Given the description of an element on the screen output the (x, y) to click on. 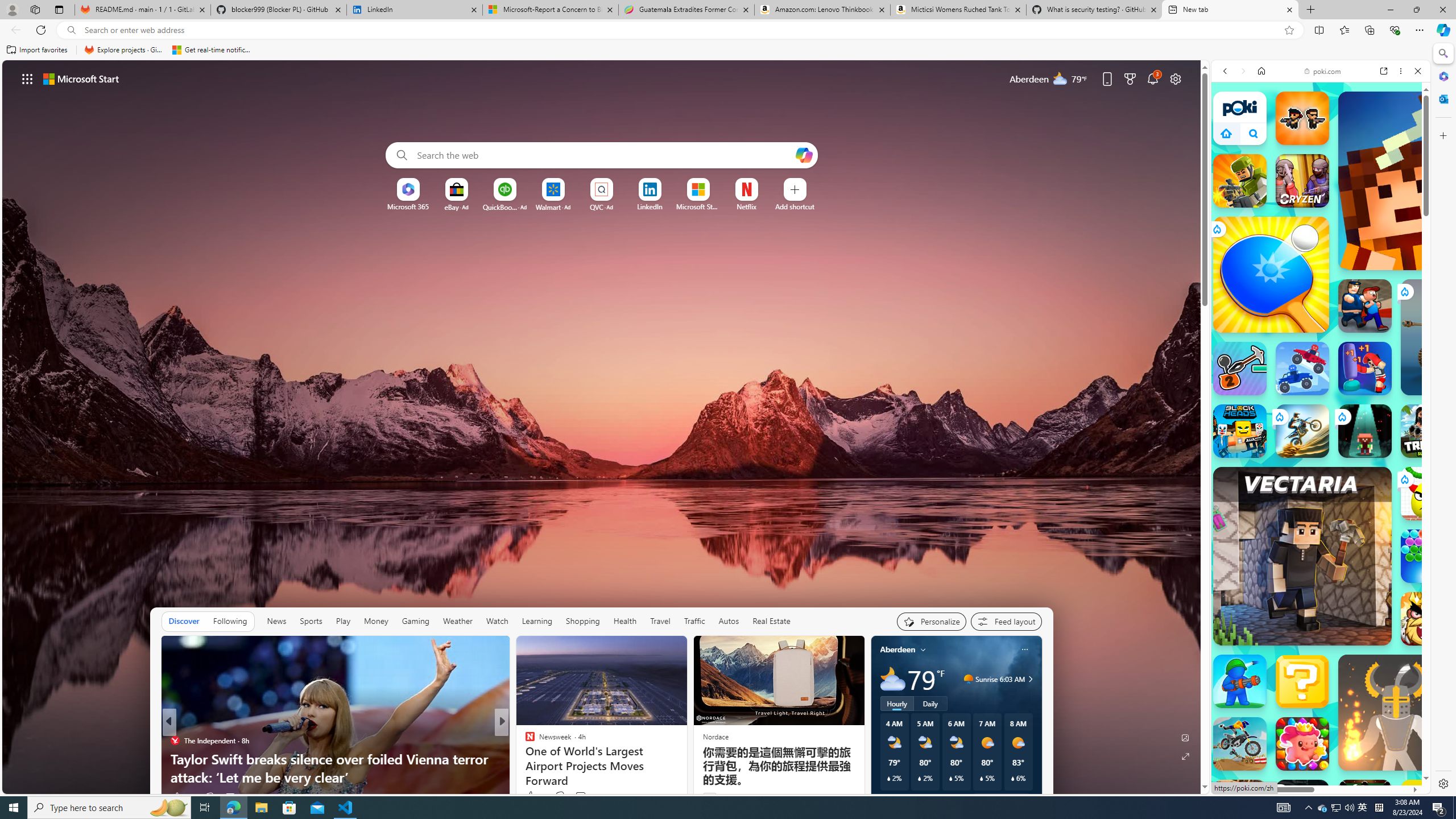
View comments 2 Comment (580, 797)
War Master War Master (1239, 681)
Car Games (1320, 286)
Tribals.io (1427, 430)
Kour.io (1239, 180)
Ping Pong Go! Ping Pong Go! (1270, 274)
Stickman Climb 2 Stickman Climb 2 (1239, 368)
